Given the description of an element on the screen output the (x, y) to click on. 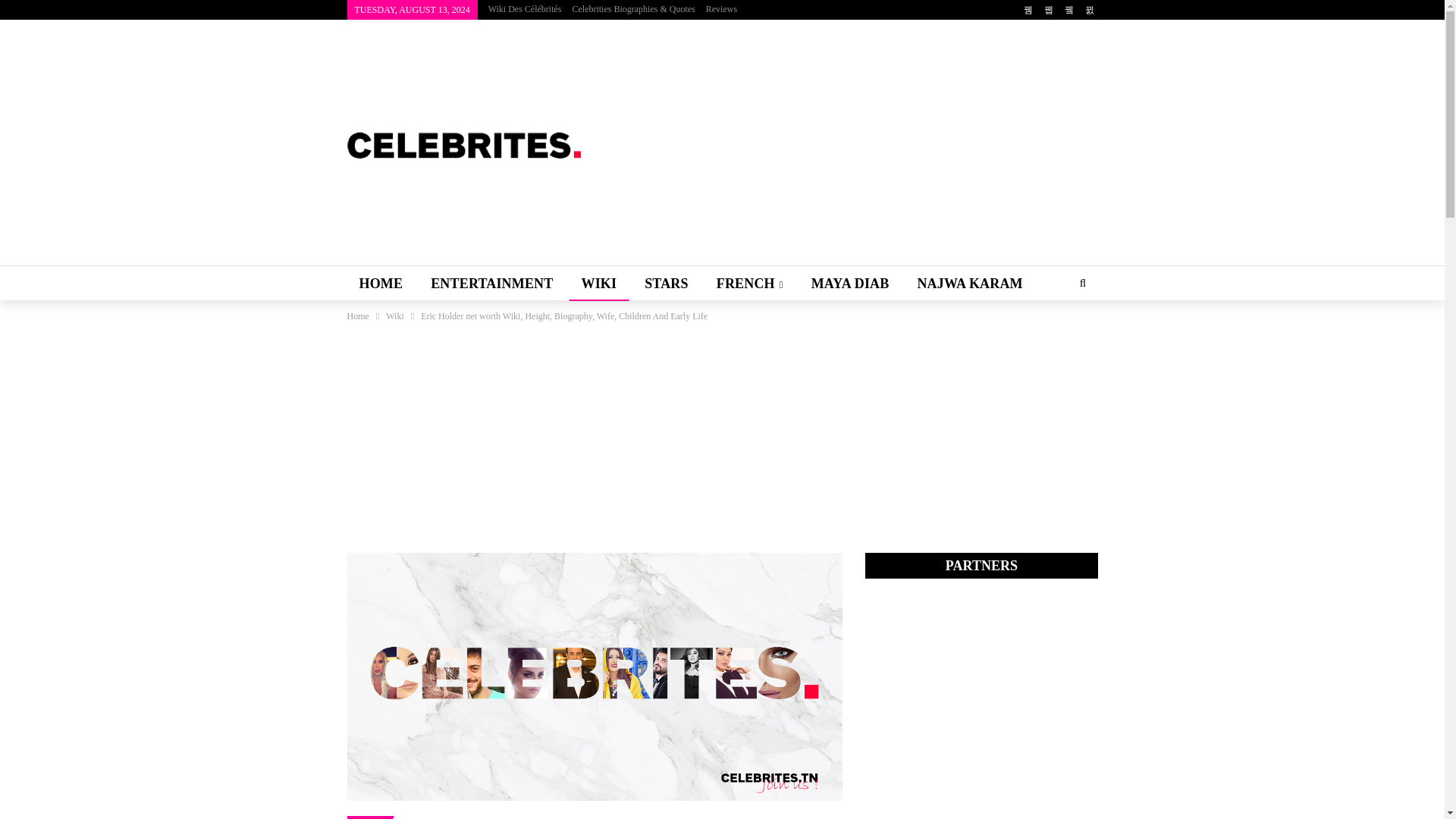
WIKI (598, 284)
MAYA DIAB (850, 284)
STARS (665, 284)
Wiki (394, 315)
ENTERTAINMENT (491, 284)
HOME (380, 284)
Advertisement (851, 143)
NAJWA KARAM (968, 284)
FRENCH (749, 284)
